Given the description of an element on the screen output the (x, y) to click on. 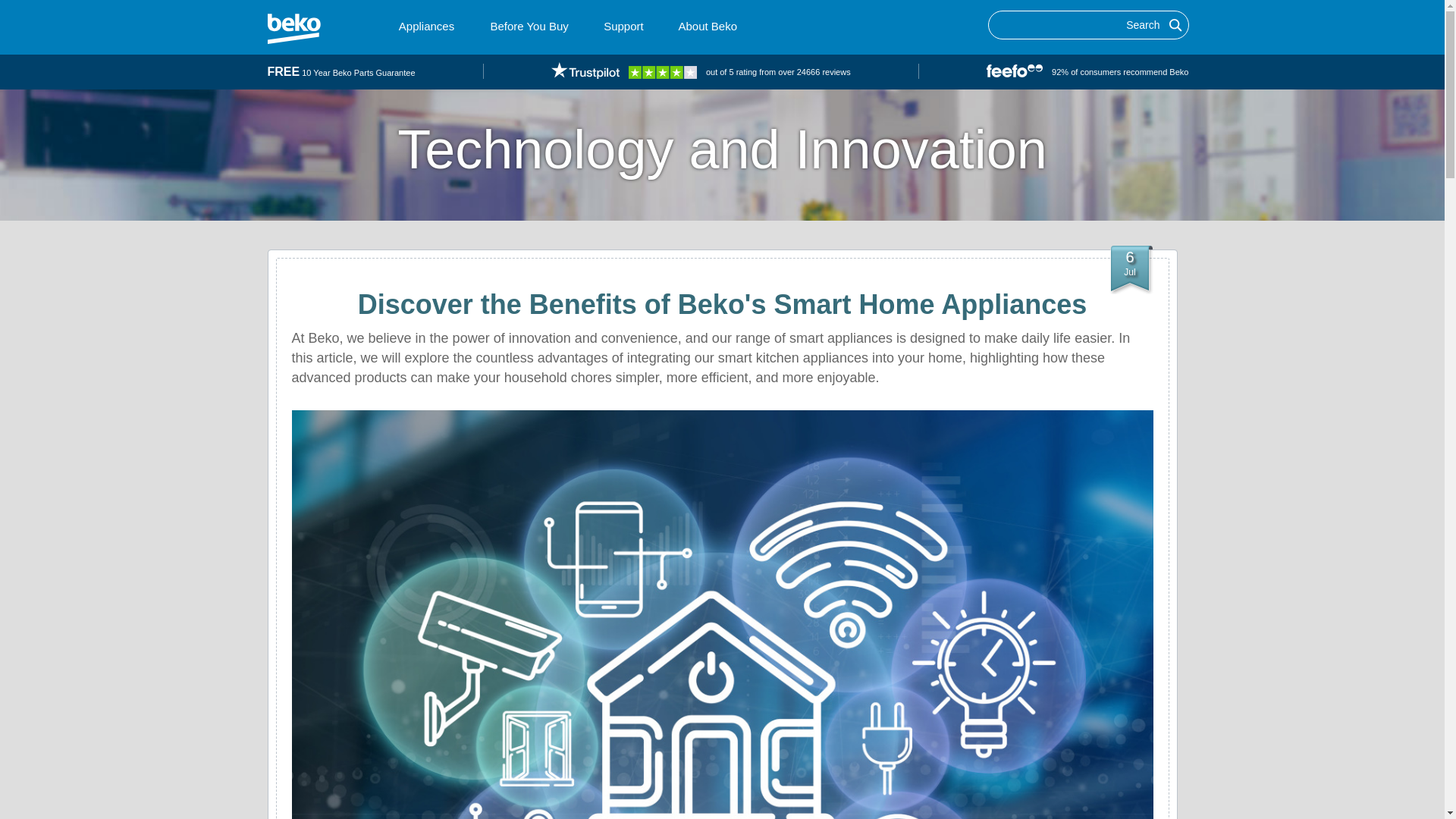
Appliances (425, 25)
